Given the description of an element on the screen output the (x, y) to click on. 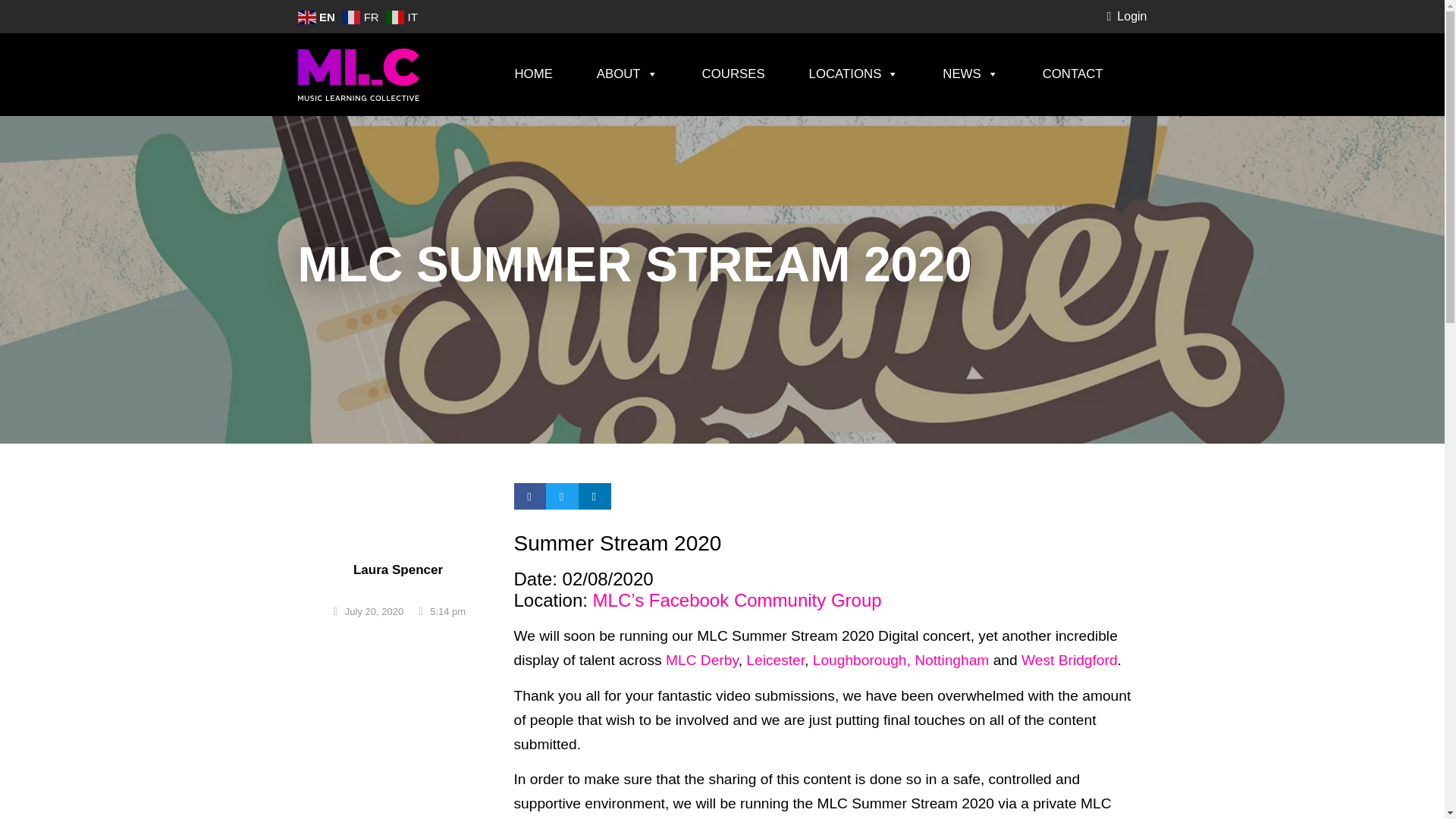
LOCATIONS (854, 73)
French (361, 15)
Italian (403, 15)
HOME (532, 73)
ABOUT (627, 73)
English (317, 15)
IT (403, 15)
EN (317, 15)
FR (361, 15)
COURSES (733, 73)
